Given the description of an element on the screen output the (x, y) to click on. 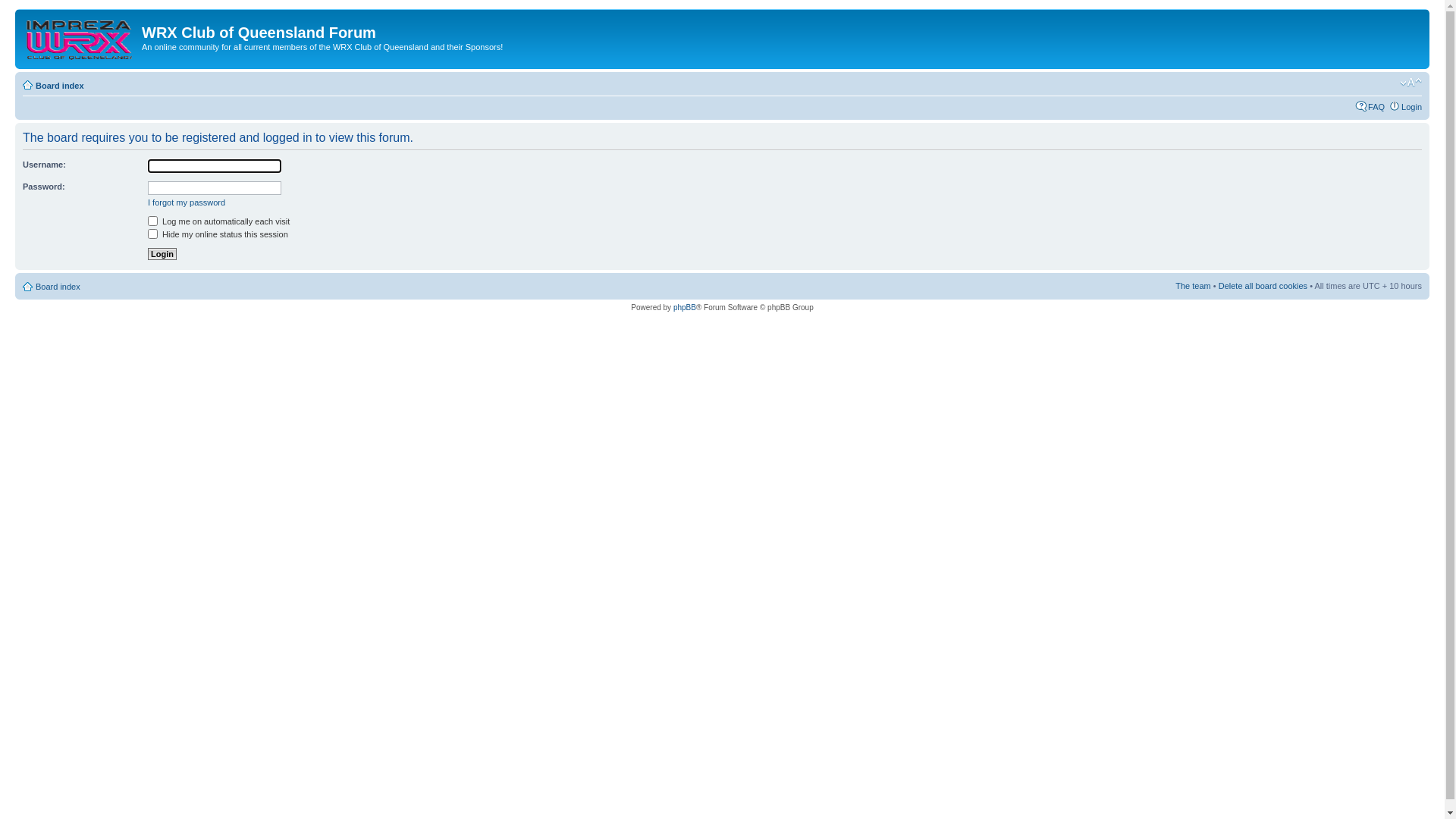
Board index Element type: text (57, 286)
Change font size Element type: text (1410, 82)
I forgot my password Element type: text (186, 202)
The team Element type: text (1192, 285)
Login Element type: text (161, 253)
Login Element type: text (1411, 106)
Delete all board cookies Element type: text (1262, 285)
Board index Element type: text (59, 85)
phpBB Element type: text (684, 307)
FAQ Element type: text (1376, 106)
Board index Element type: hover (79, 36)
